Given the description of an element on the screen output the (x, y) to click on. 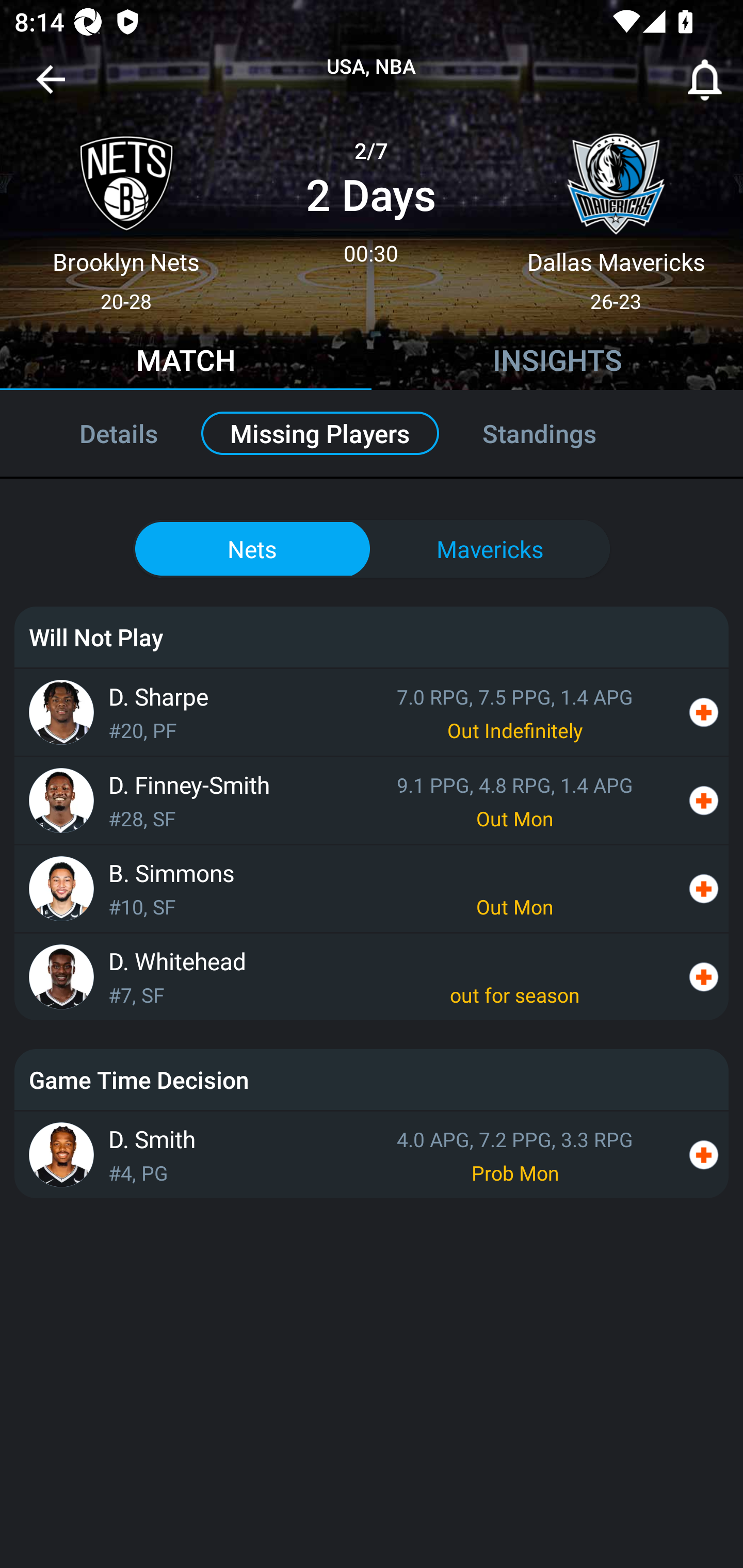
Navigate up (50, 86)
USA, NBA (371, 66)
Brooklyn Nets 20-28 (126, 214)
Dallas Mavericks 26-23 (616, 214)
MATCH (185, 362)
INSIGHTS (557, 362)
Details (96, 433)
Standings (561, 433)
Mavericks (490, 548)
B. Simmons #10, SF Out Mon (371, 888)
D. Whitehead #7, SF out for season (371, 976)
D. Smith 4.0 APG, 7.2 PPG, 3.3 RPG #4, PG Prob Mon (371, 1154)
